Given the description of an element on the screen output the (x, y) to click on. 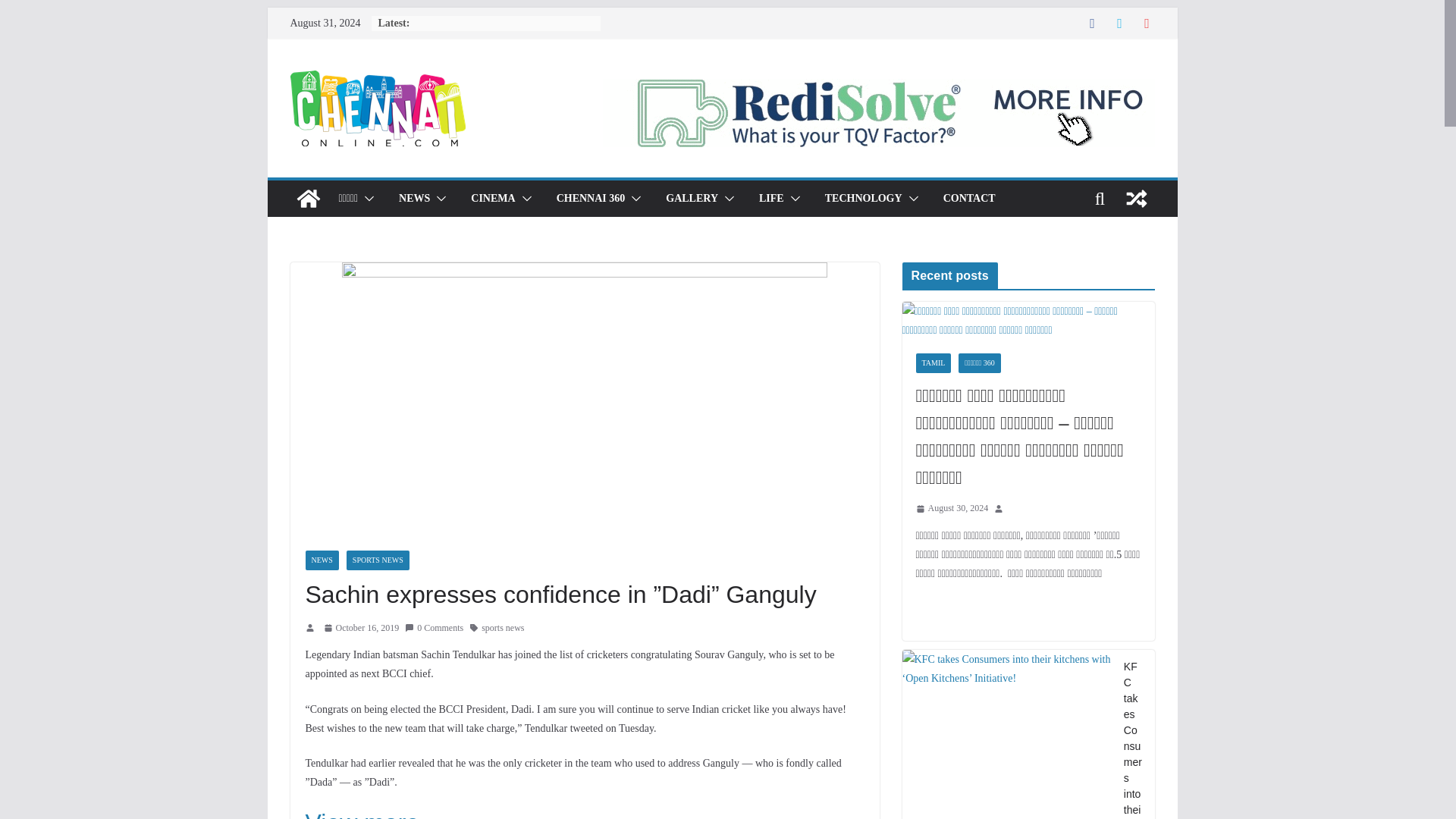
View a random post (1136, 198)
CINEMA (492, 198)
CHENNAI 360 (591, 198)
9:55 AM (360, 628)
NEWS (413, 198)
GALLERY (691, 198)
Chennaionline (307, 198)
